Given the description of an element on the screen output the (x, y) to click on. 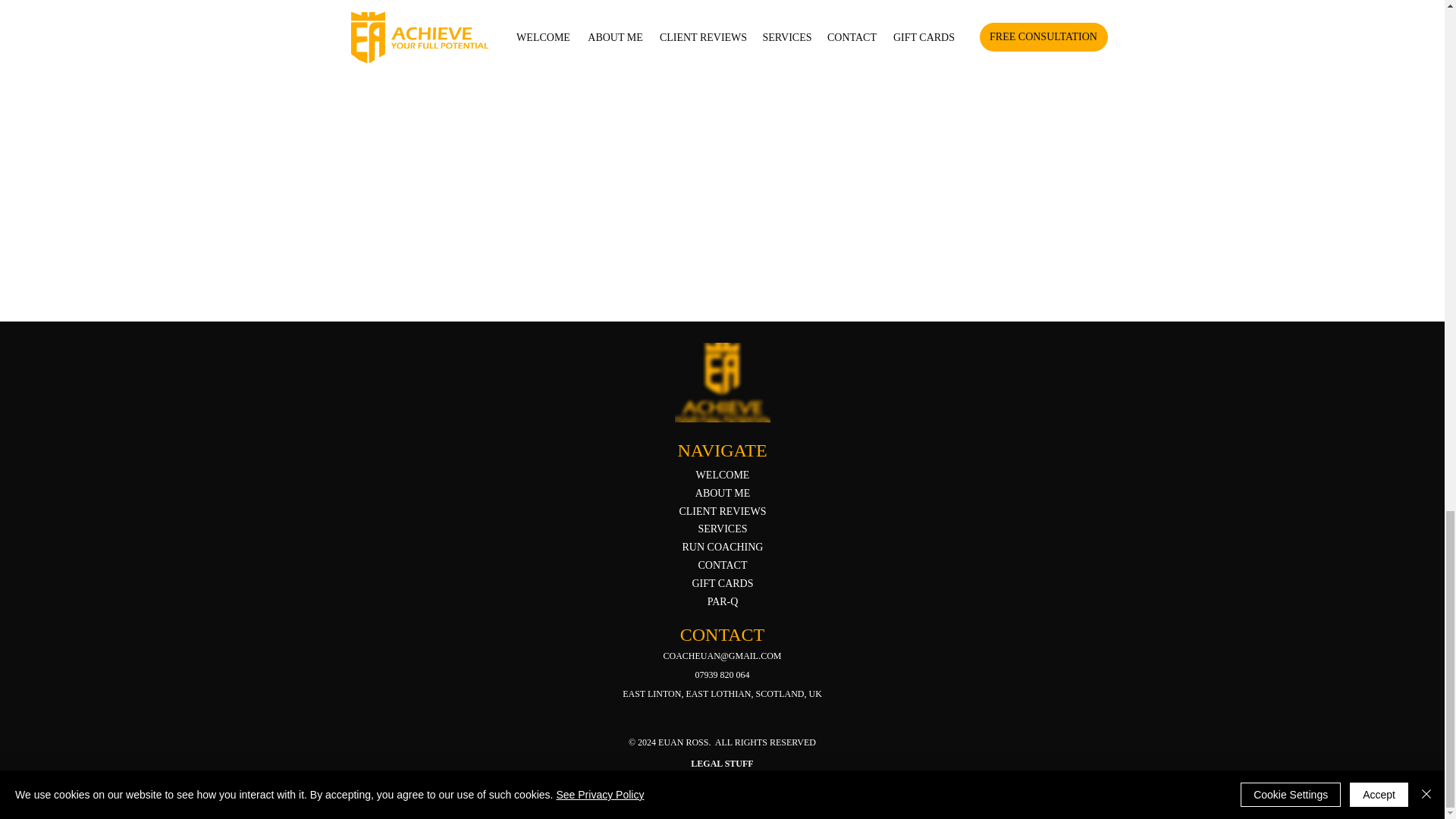
ABOUT ME (722, 492)
PAR-Q (722, 601)
RUN COACHING (722, 546)
EAST LINTON, EAST LOTHIAN, SCOTLAND, UK (722, 693)
CLIENT REVIEWS (721, 511)
CONTACT (721, 564)
07939 820 064 (721, 674)
LEGAL STUFF (721, 763)
GIFT CARDS (721, 583)
SERVICES (721, 528)
WELCOME (722, 474)
